Given the description of an element on the screen output the (x, y) to click on. 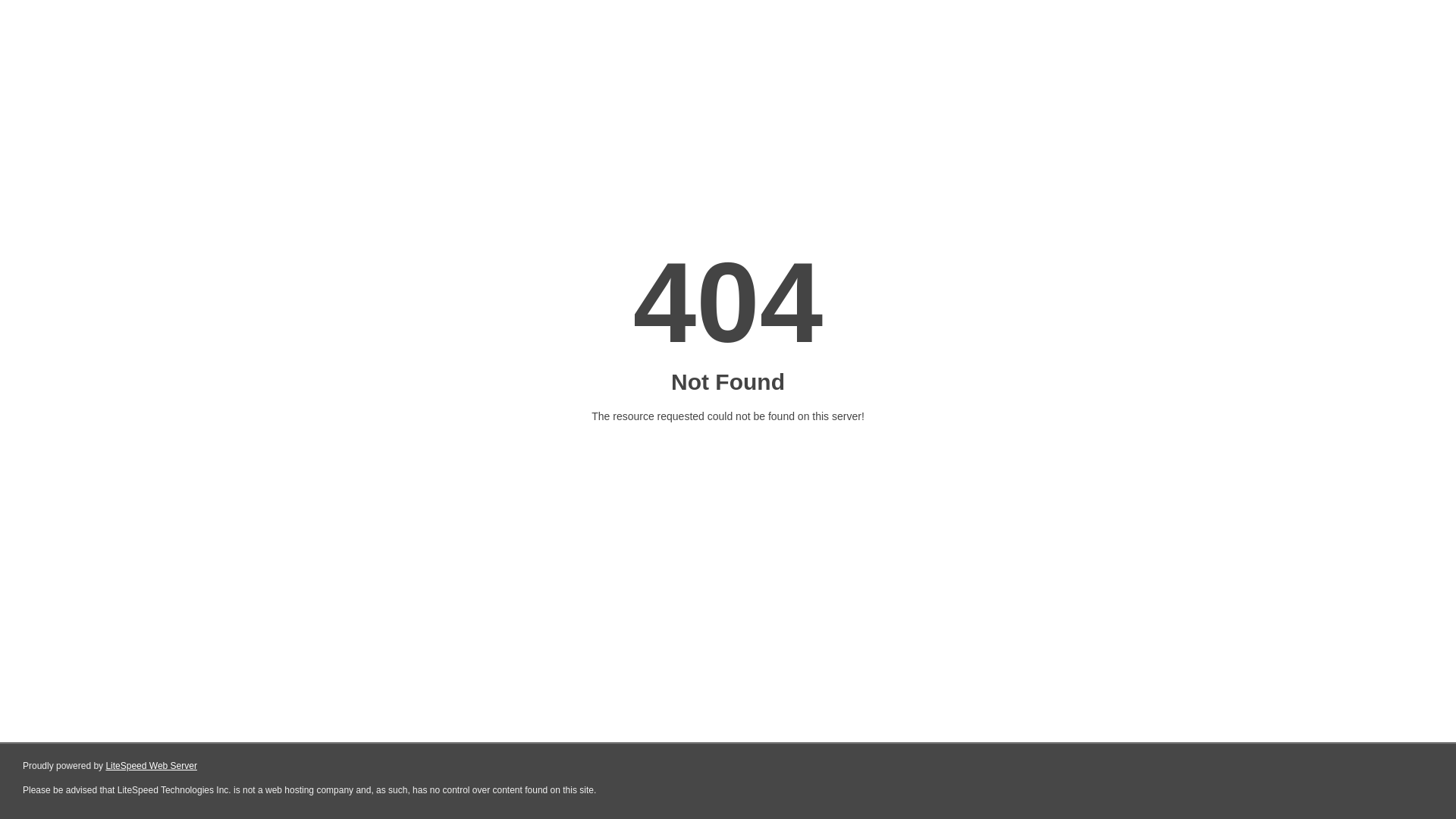
LiteSpeed Web Server Element type: text (151, 765)
